Given the description of an element on the screen output the (x, y) to click on. 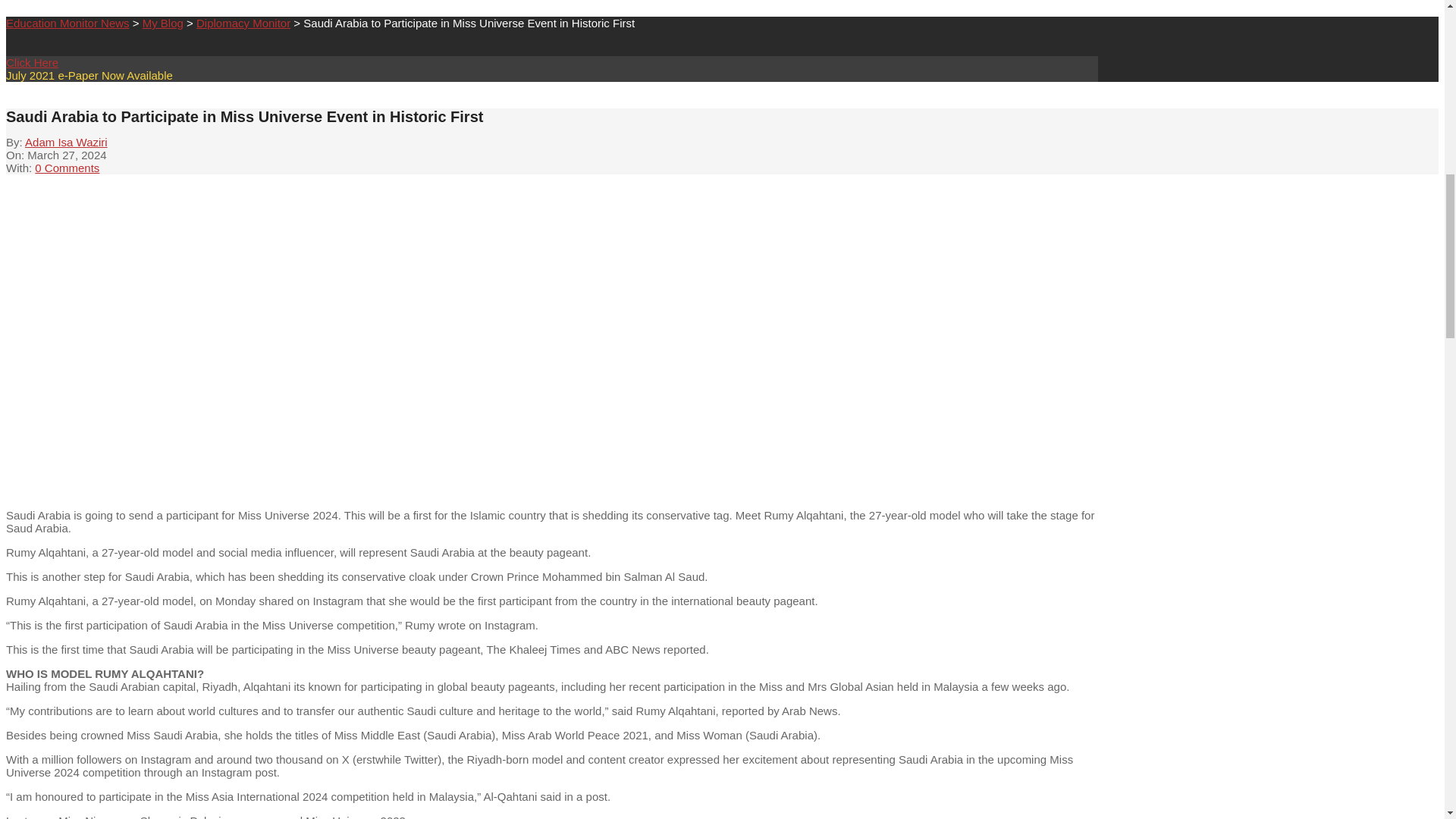
My Blog (162, 22)
Go to My Blog. (162, 22)
Go to Education Monitor News. (67, 22)
Wednesday, March 27, 2024, 6:15 pm (66, 154)
Education Monitor News (67, 22)
Posts by Adam Isa Waziri (65, 141)
Go to the Diplomacy Monitor category archives. (242, 22)
Click Here (31, 62)
Adam Isa Waziri (65, 141)
0 Comments (66, 167)
Diplomacy Monitor (242, 22)
